Given the description of an element on the screen output the (x, y) to click on. 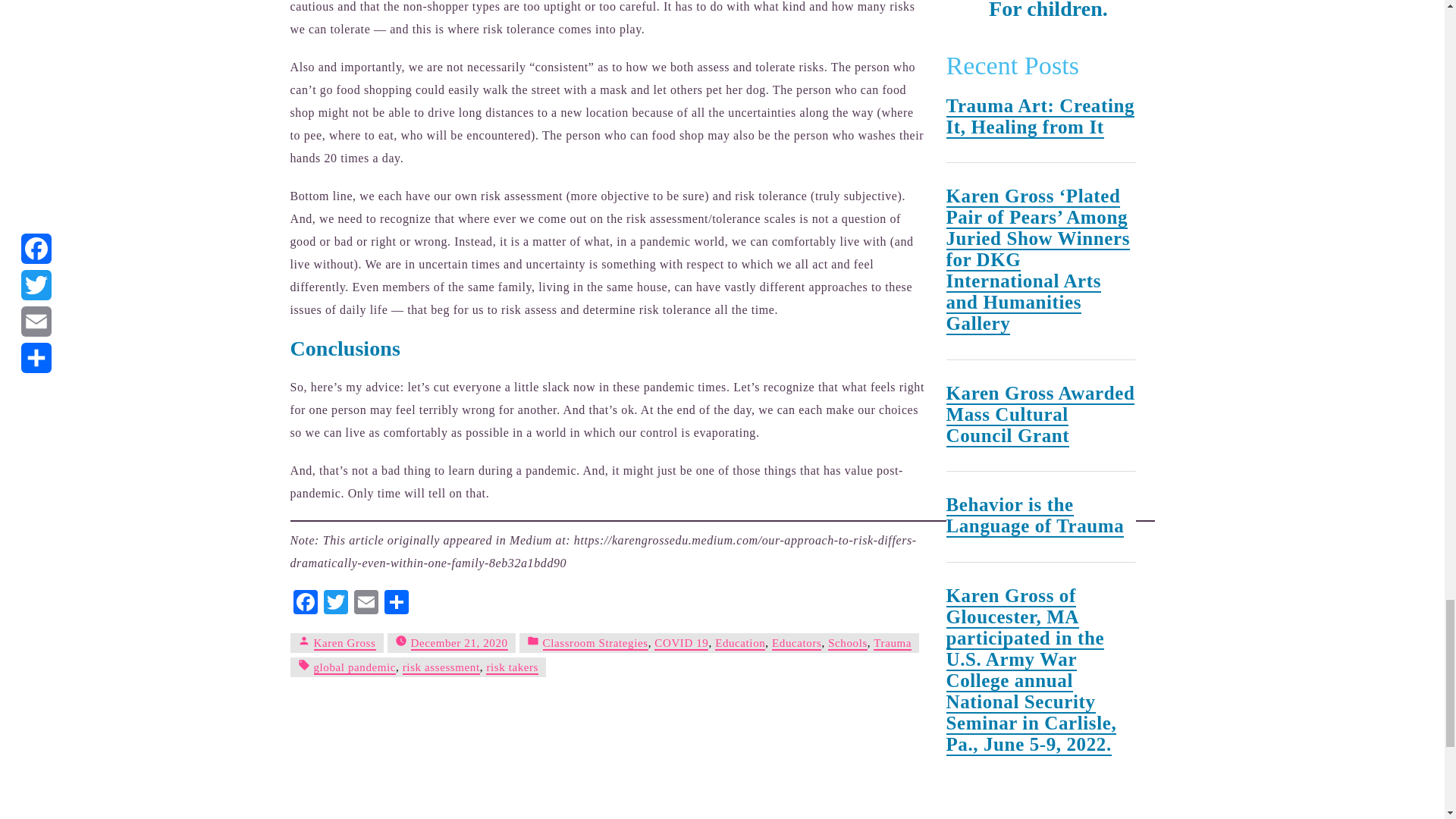
Facebook (304, 603)
Email (365, 603)
Twitter (335, 603)
